Given the description of an element on the screen output the (x, y) to click on. 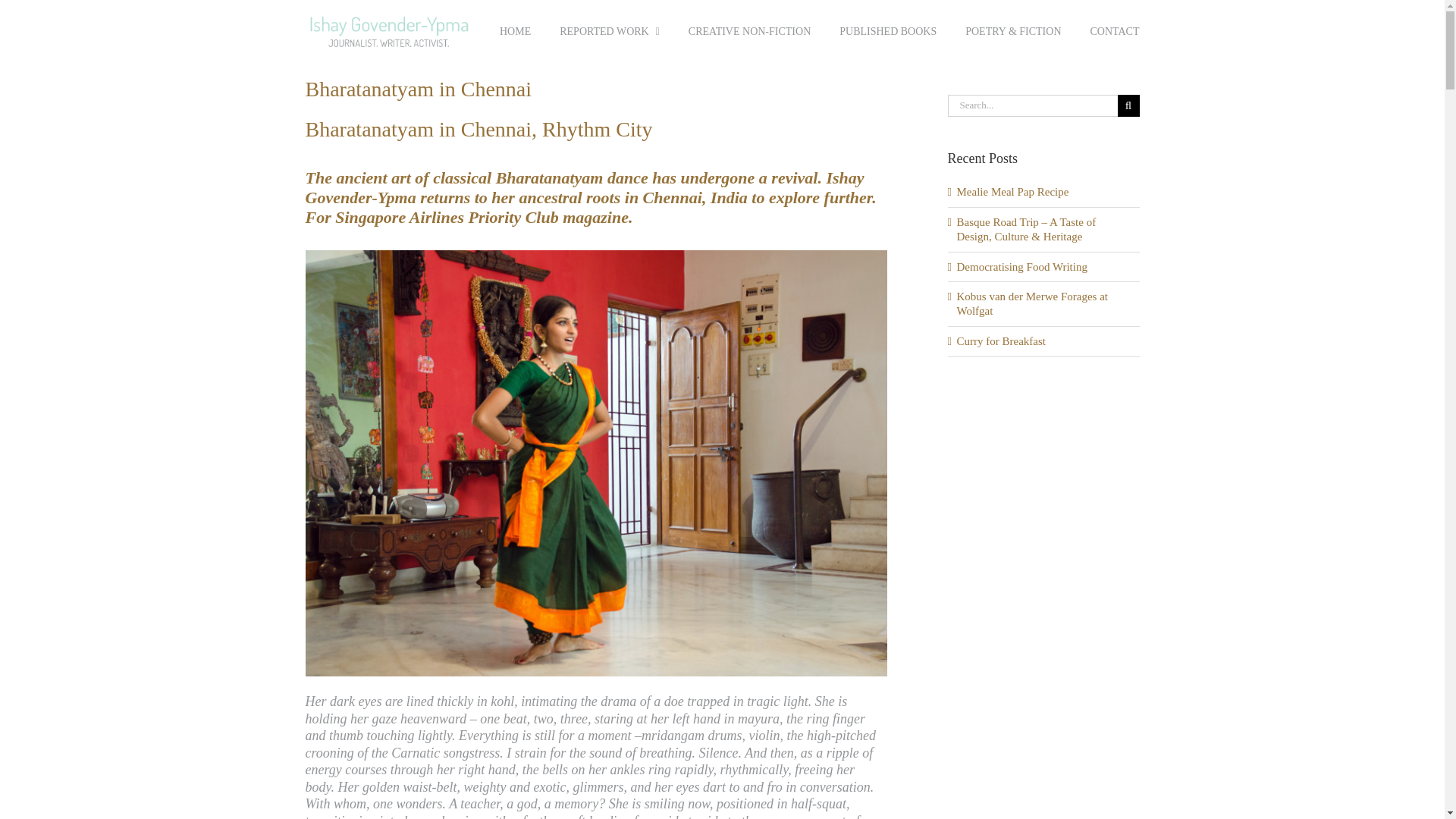
REPORTED WORK (609, 31)
Singapore Airlines Priority Club magazine.  (485, 217)
CREATIVE NON-FICTION (749, 31)
PUBLISHED BOOKS (888, 31)
